Given the description of an element on the screen output the (x, y) to click on. 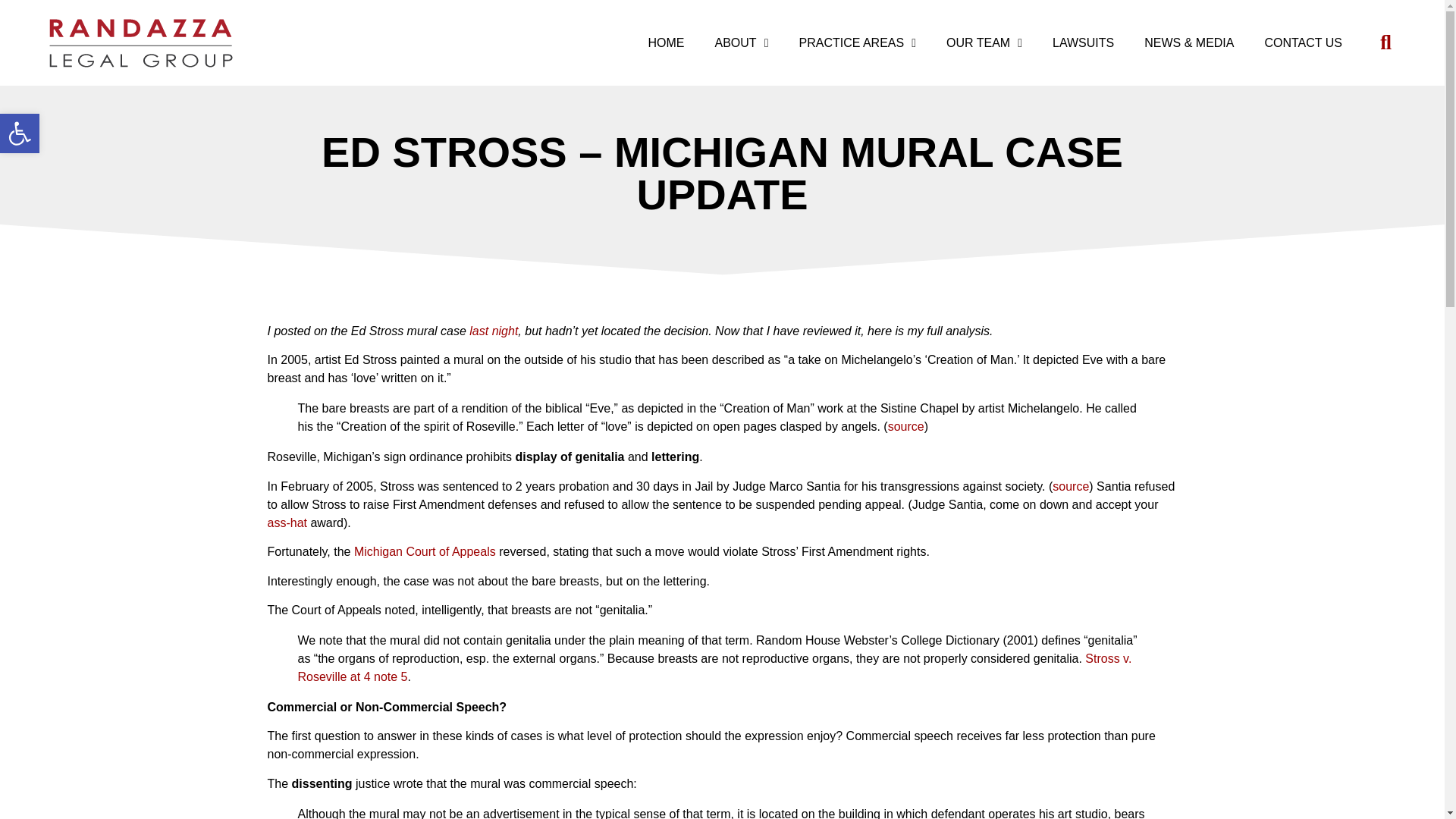
Accessibility Tools (19, 133)
ABOUT (742, 42)
PRACTICE AREAS (19, 133)
Accessibility Tools (857, 42)
HOME (19, 133)
OUR TEAM (666, 42)
